Given the description of an element on the screen output the (x, y) to click on. 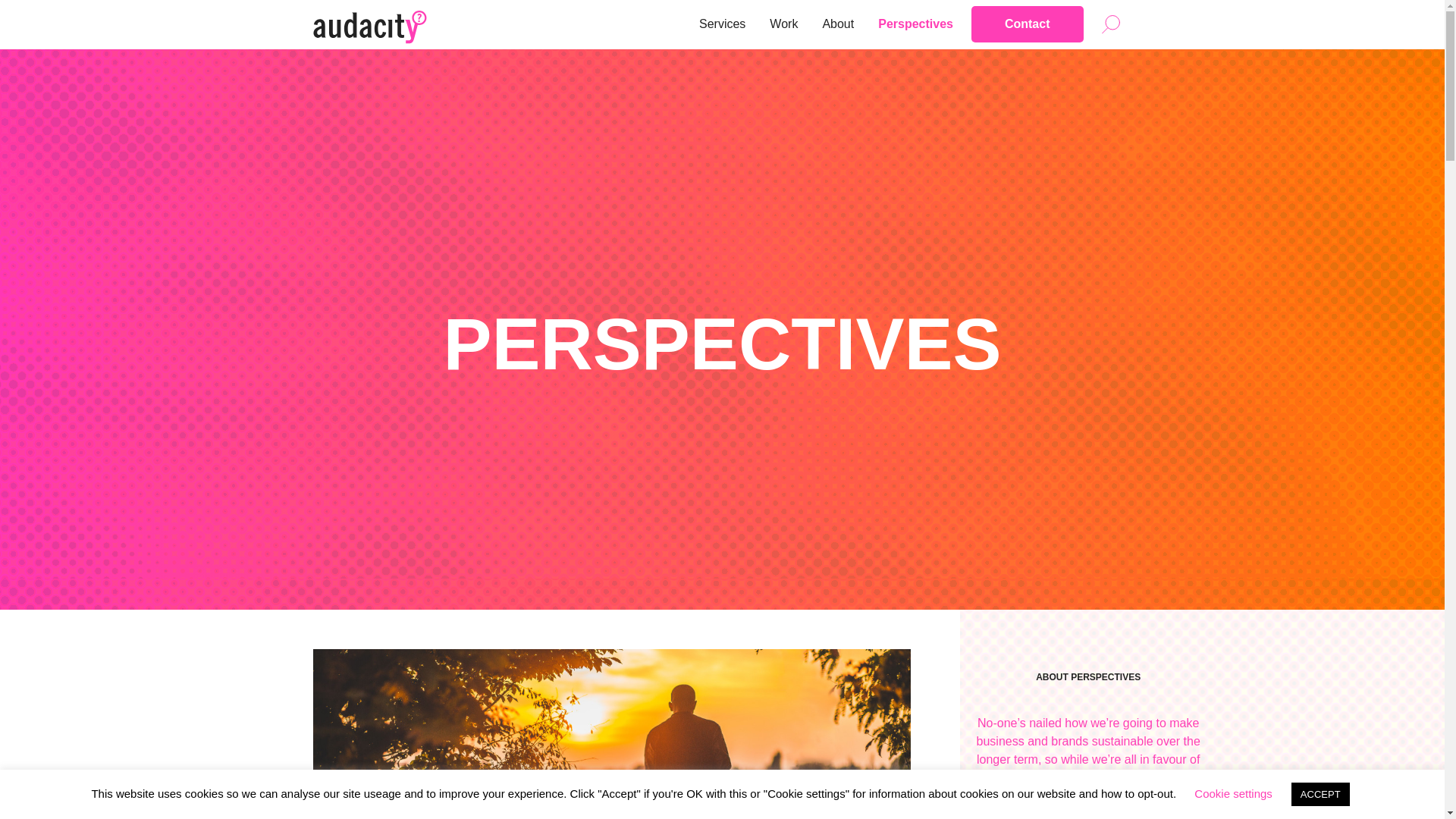
Contact (1027, 23)
About (837, 23)
Services (722, 23)
Work (782, 23)
Perspectives (915, 23)
